Given the description of an element on the screen output the (x, y) to click on. 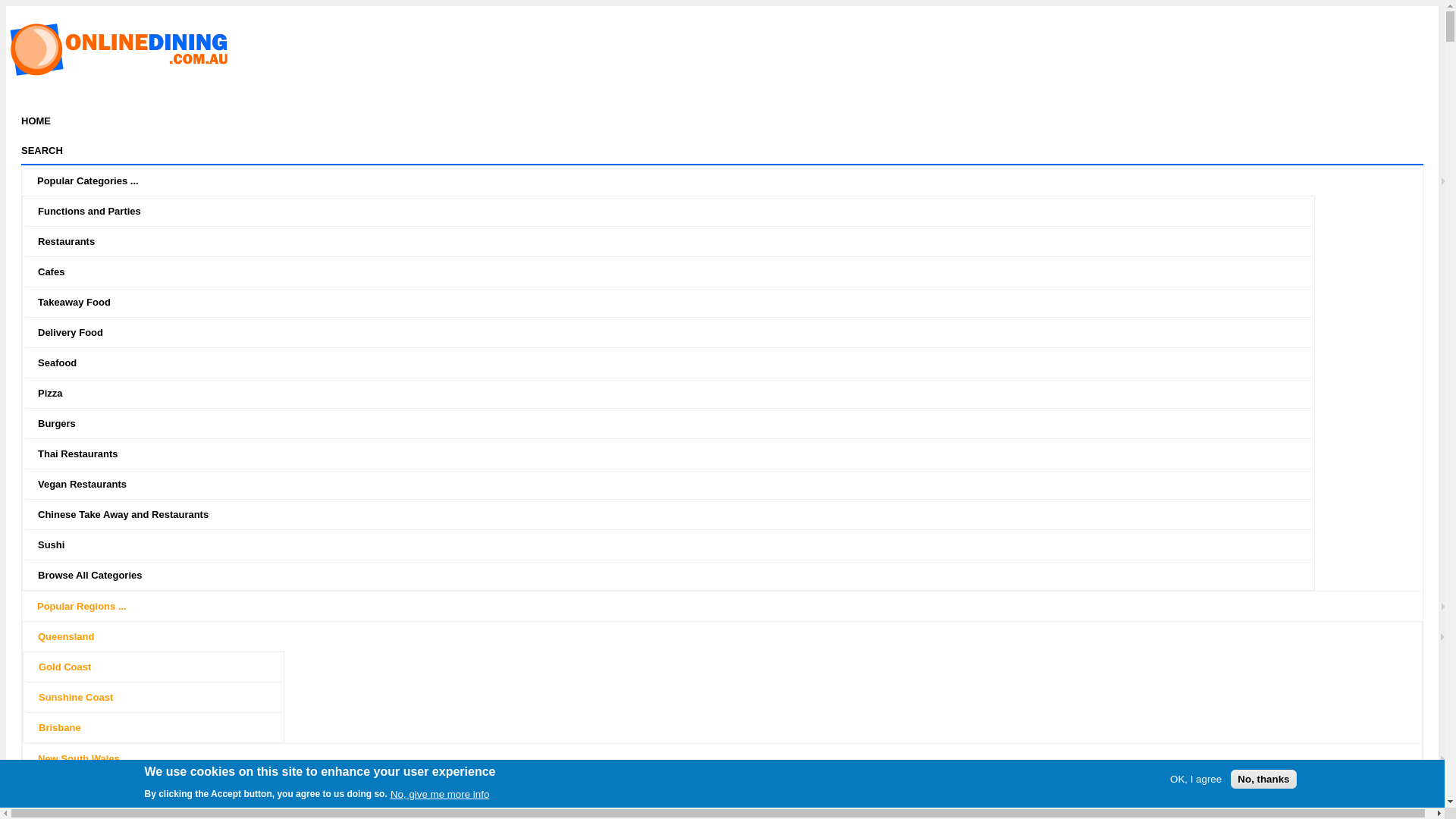
Takeaway Food Element type: text (683, 301)
Thai Restaurants Element type: text (683, 453)
New South Wales Element type: text (737, 758)
HOME Element type: text (35, 120)
Sydney Element type: text (71, 788)
Vegan Restaurants Element type: text (683, 483)
Pizza Element type: text (683, 392)
Restaurants Element type: text (683, 241)
OK, I agree Element type: text (1195, 778)
Skip to main content Element type: text (57, 6)
Cafes Element type: text (683, 271)
Gold Coast Element type: text (168, 666)
Queensland Element type: text (737, 636)
Popular Regions ... Element type: text (736, 606)
Chinese Take Away and Restaurants Element type: text (683, 514)
Sunshine Coast Element type: text (168, 697)
OnlineDining.com.au Element type: hover (119, 73)
Brisbane Element type: text (168, 727)
Burgers Element type: text (683, 423)
Delivery Food Element type: text (683, 332)
Browse All Categories Element type: text (683, 574)
No, give me more info Element type: text (439, 793)
Functions and Parties Element type: text (683, 210)
Seafood Element type: text (683, 362)
Popular Categories ... Element type: text (736, 180)
Sushi Element type: text (683, 544)
No, thanks Element type: text (1262, 778)
SEARCH Element type: text (722, 150)
